Given the description of an element on the screen output the (x, y) to click on. 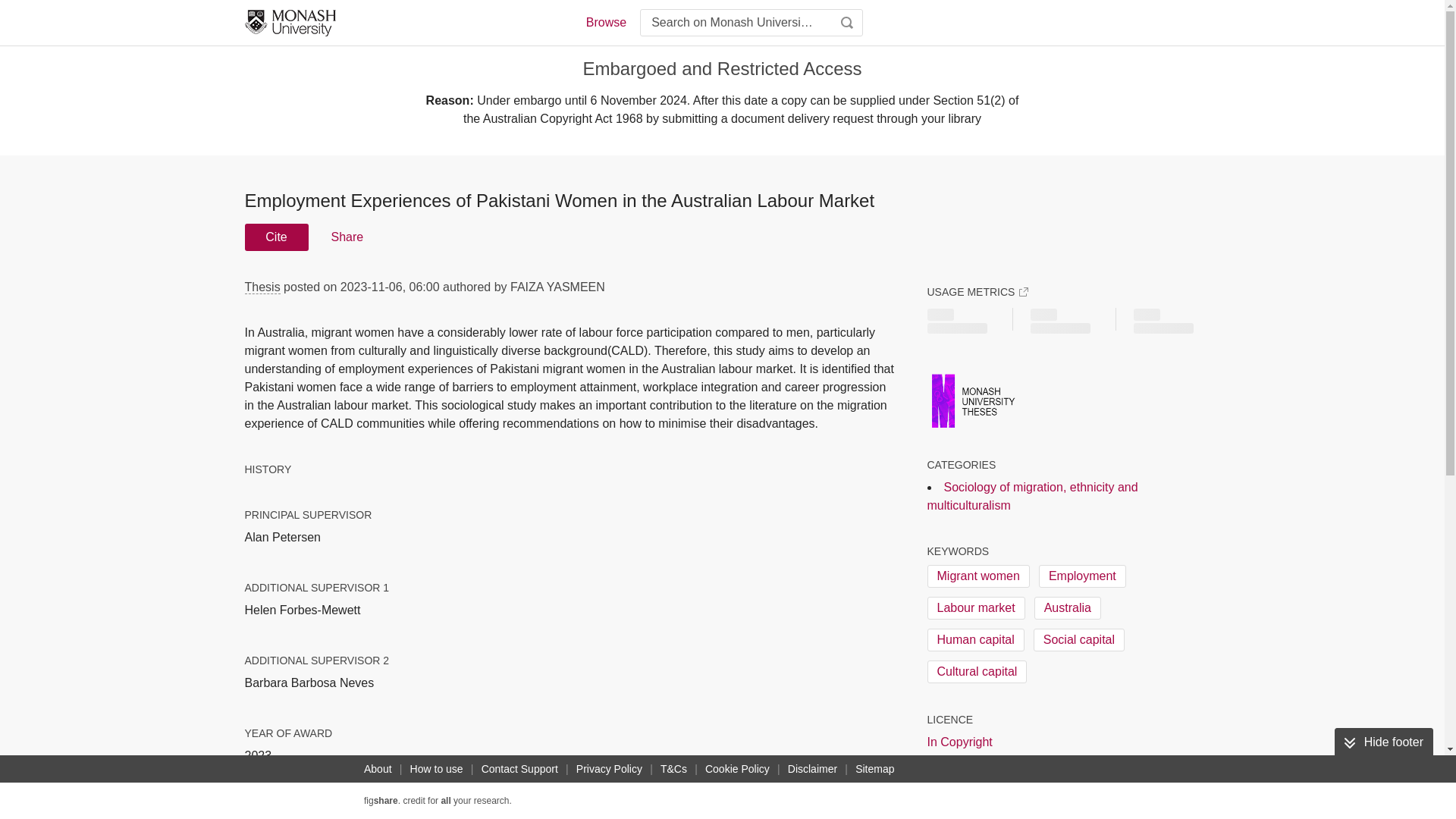
Cookie Policy (737, 769)
Cite (275, 236)
Sociology of migration, ethnicity and multiculturalism (1031, 495)
In Copyright (958, 742)
How to use (436, 769)
Sitemap (874, 769)
About (377, 769)
Contact Support (519, 769)
Migrant women (977, 576)
Disclaimer (812, 769)
Hide footer (1383, 742)
Privacy Policy (609, 769)
Labour market (975, 608)
Cultural capital (976, 671)
Employment (1082, 576)
